Given the description of an element on the screen output the (x, y) to click on. 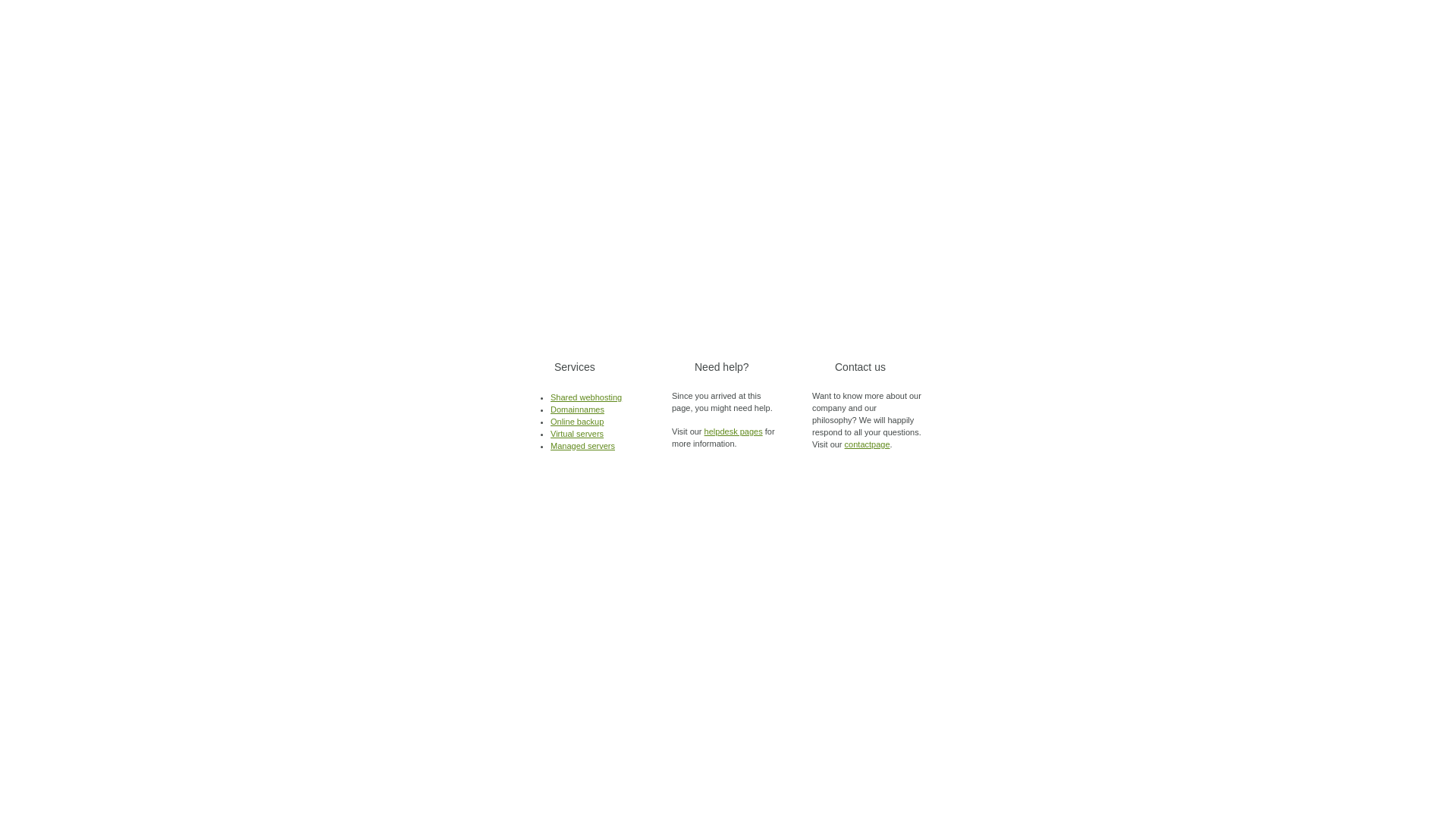
helpdesk pages Element type: text (733, 431)
Virtual servers Element type: text (576, 433)
Online backup Element type: text (576, 421)
contactpage Element type: text (867, 443)
Shared webhosting Element type: text (585, 396)
Domainnames Element type: text (577, 409)
Managed servers Element type: text (582, 445)
